Given the description of an element on the screen output the (x, y) to click on. 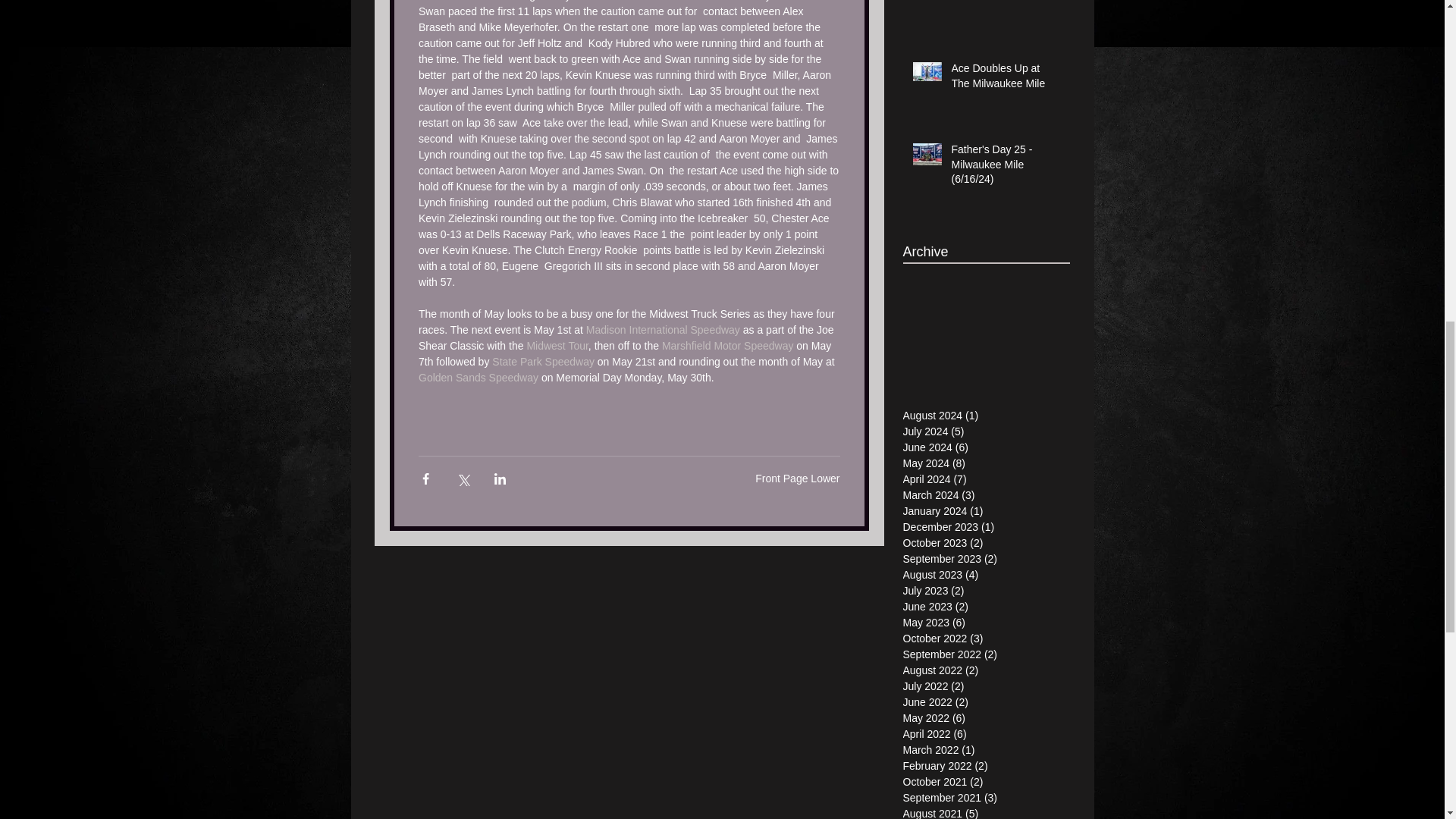
Ace Doubles Up at The Milwaukee Mile (1004, 79)
Golden Sands Speedway (478, 377)
Madison International Speedway (662, 329)
Marshfield Event Rained Out (1004, 2)
State Park Speedway (543, 361)
Front Page Lower (797, 478)
Marshfield Motor Speedway (727, 345)
Midwest Tour (556, 345)
